Given the description of an element on the screen output the (x, y) to click on. 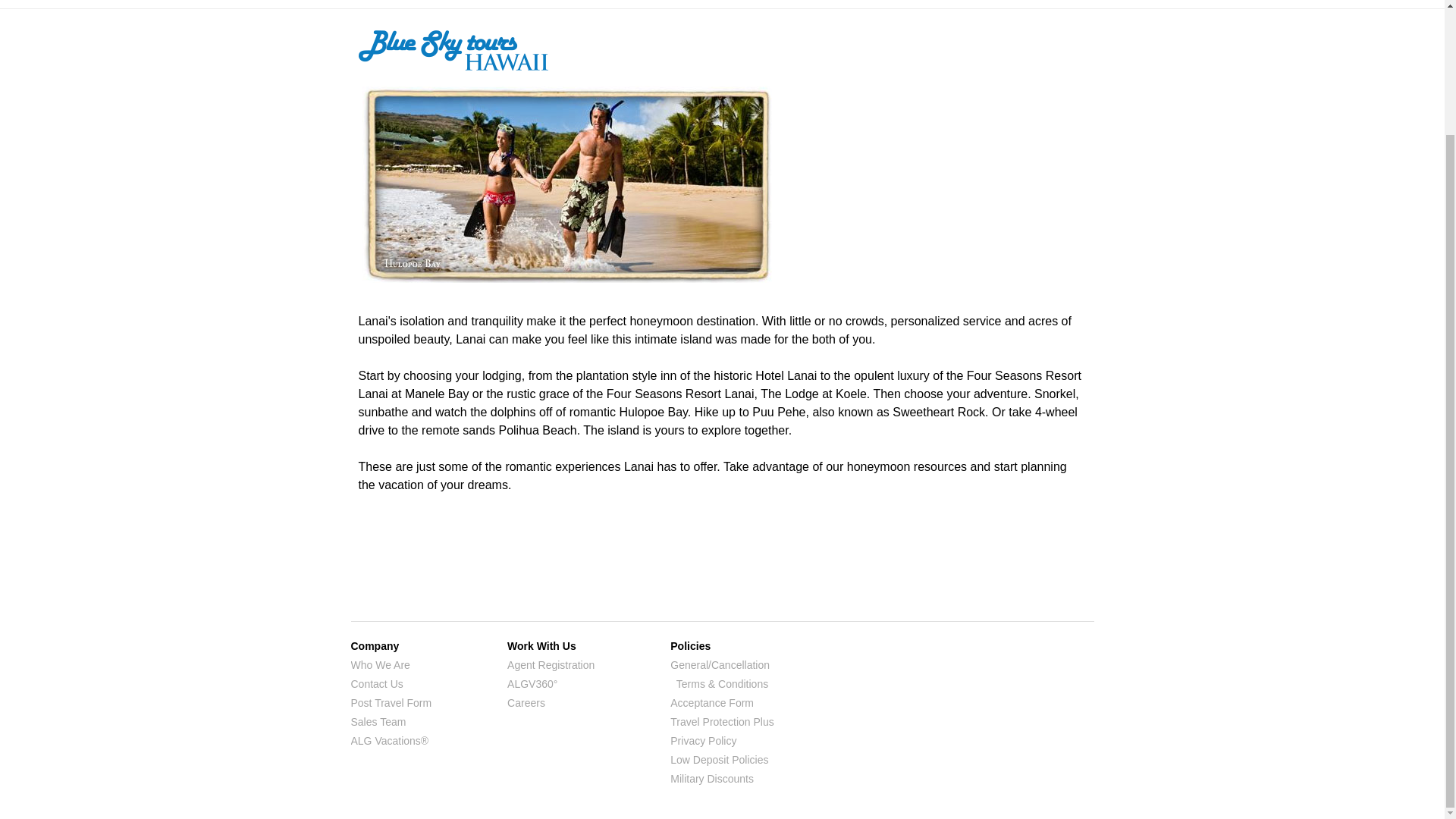
Acceptance Form (711, 702)
Agent Registration (550, 664)
Who We Are (379, 664)
Post Travel Form (390, 702)
Contact Us (376, 684)
Careers (525, 702)
Sales Team (378, 721)
